Given the description of an element on the screen output the (x, y) to click on. 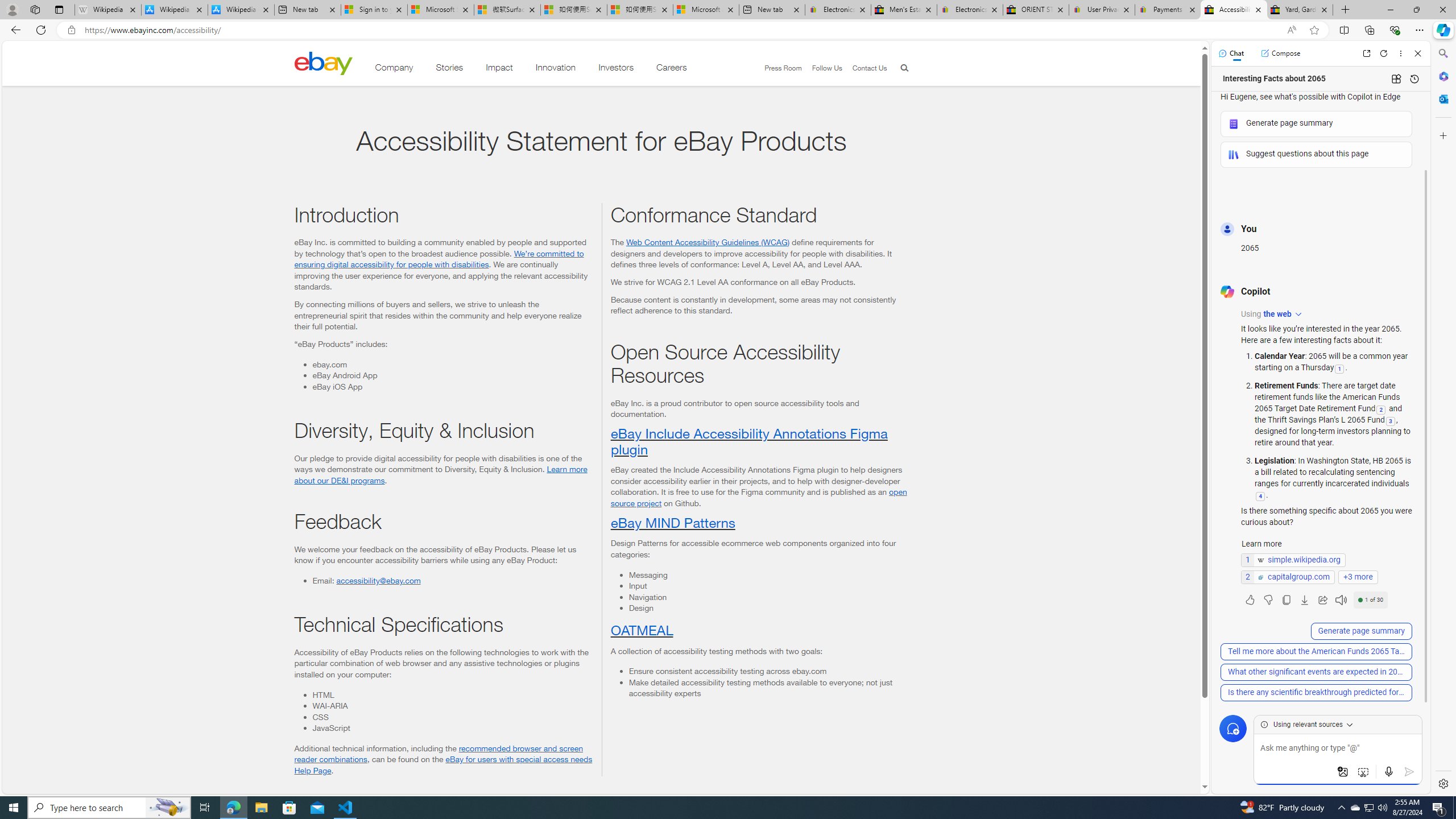
eBay iOS App (451, 386)
Stories (449, 69)
Impact (499, 69)
eBay for users with special access needs Help Page (443, 764)
eBay Include Accessibility Annotations Figma plugin (749, 441)
Innovation (555, 69)
Learn more about our DE&I programs (441, 474)
